Given the description of an element on the screen output the (x, y) to click on. 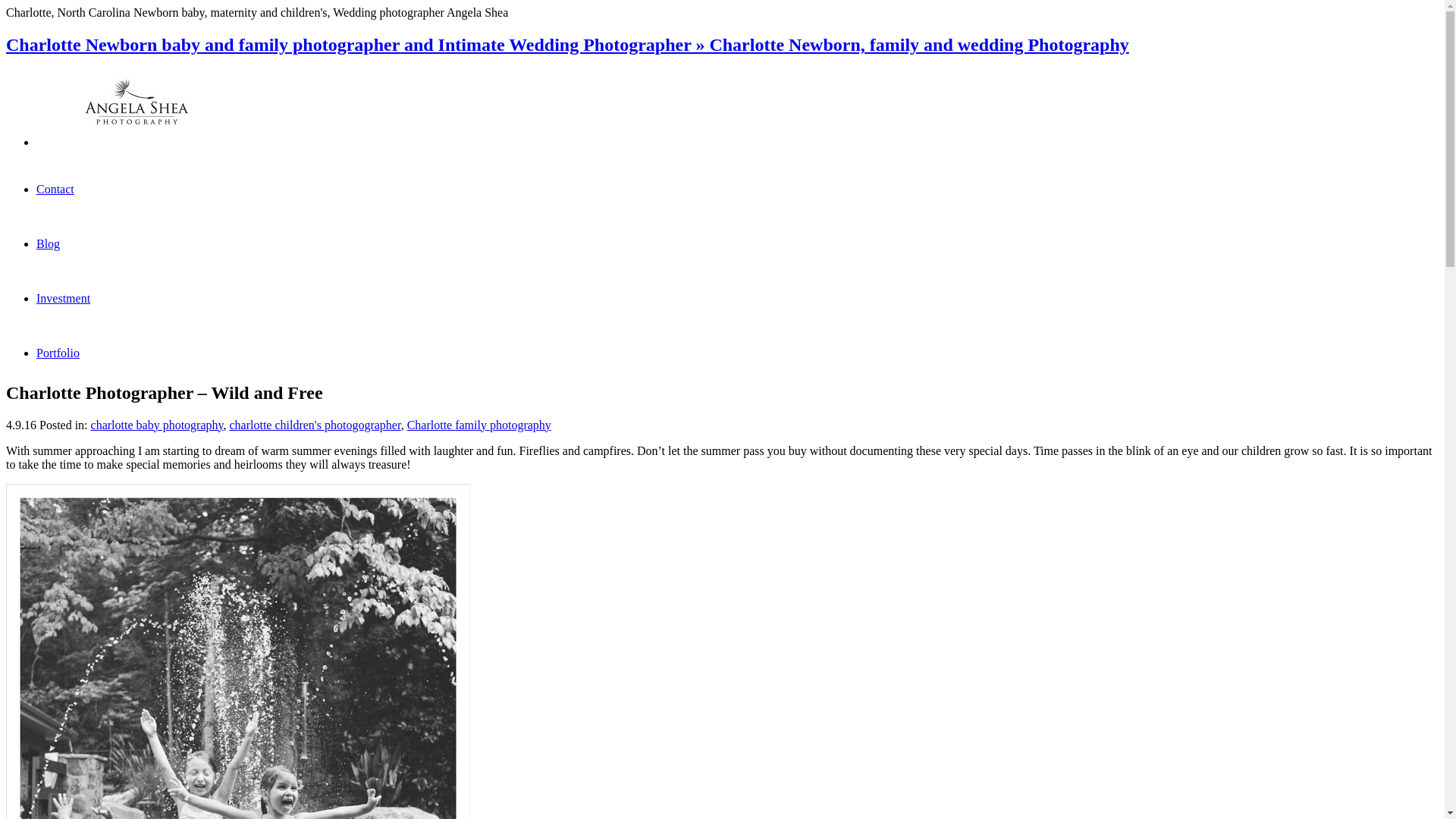
Portfolio (58, 352)
Contact (55, 188)
charlotte children's photogographer (314, 424)
Charlotte family photography (479, 424)
charlotte baby photography (157, 424)
Blog (47, 243)
Investment (63, 297)
